Given the description of an element on the screen output the (x, y) to click on. 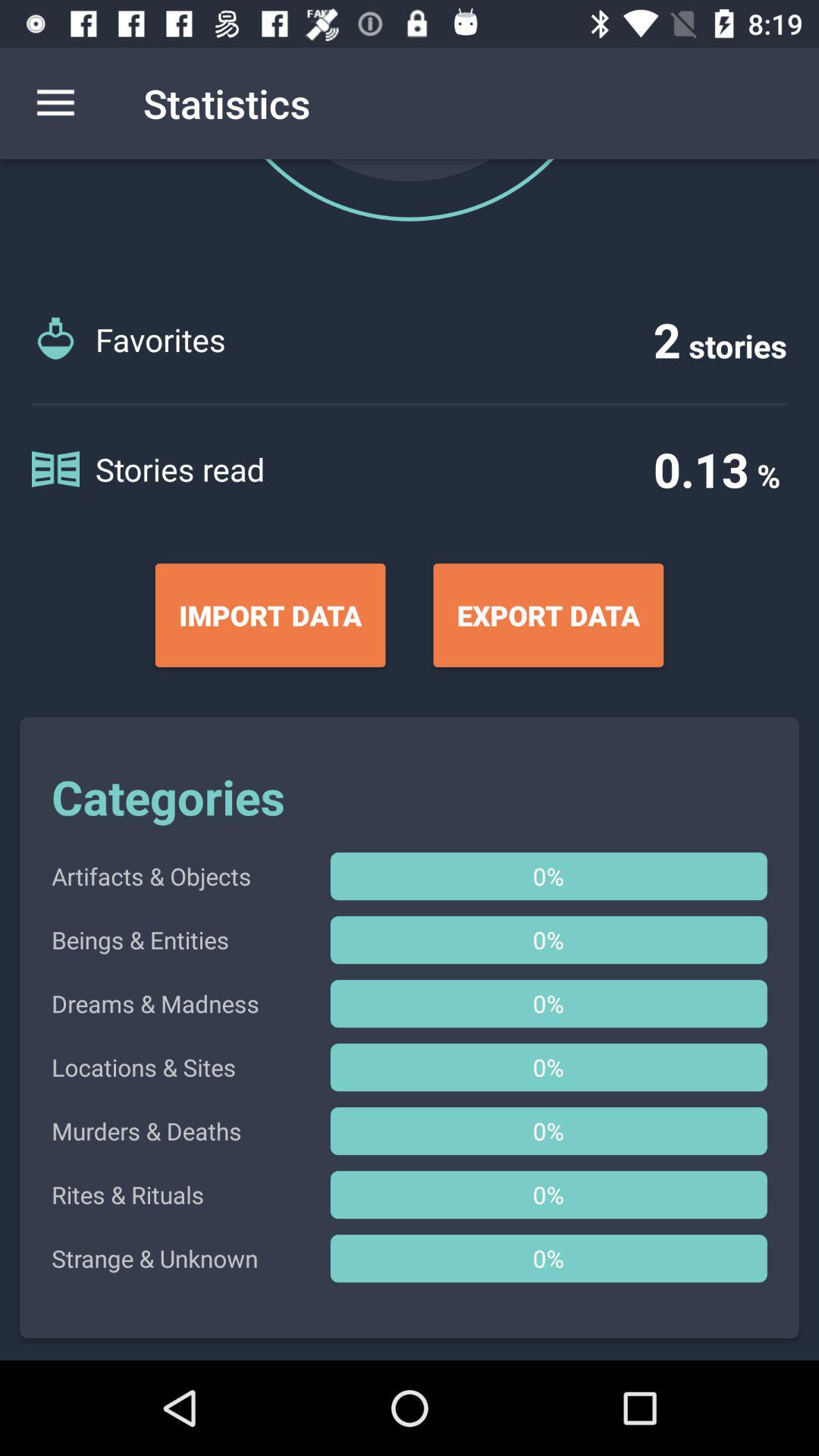
tap the item below the stories read item (270, 615)
